Given the description of an element on the screen output the (x, y) to click on. 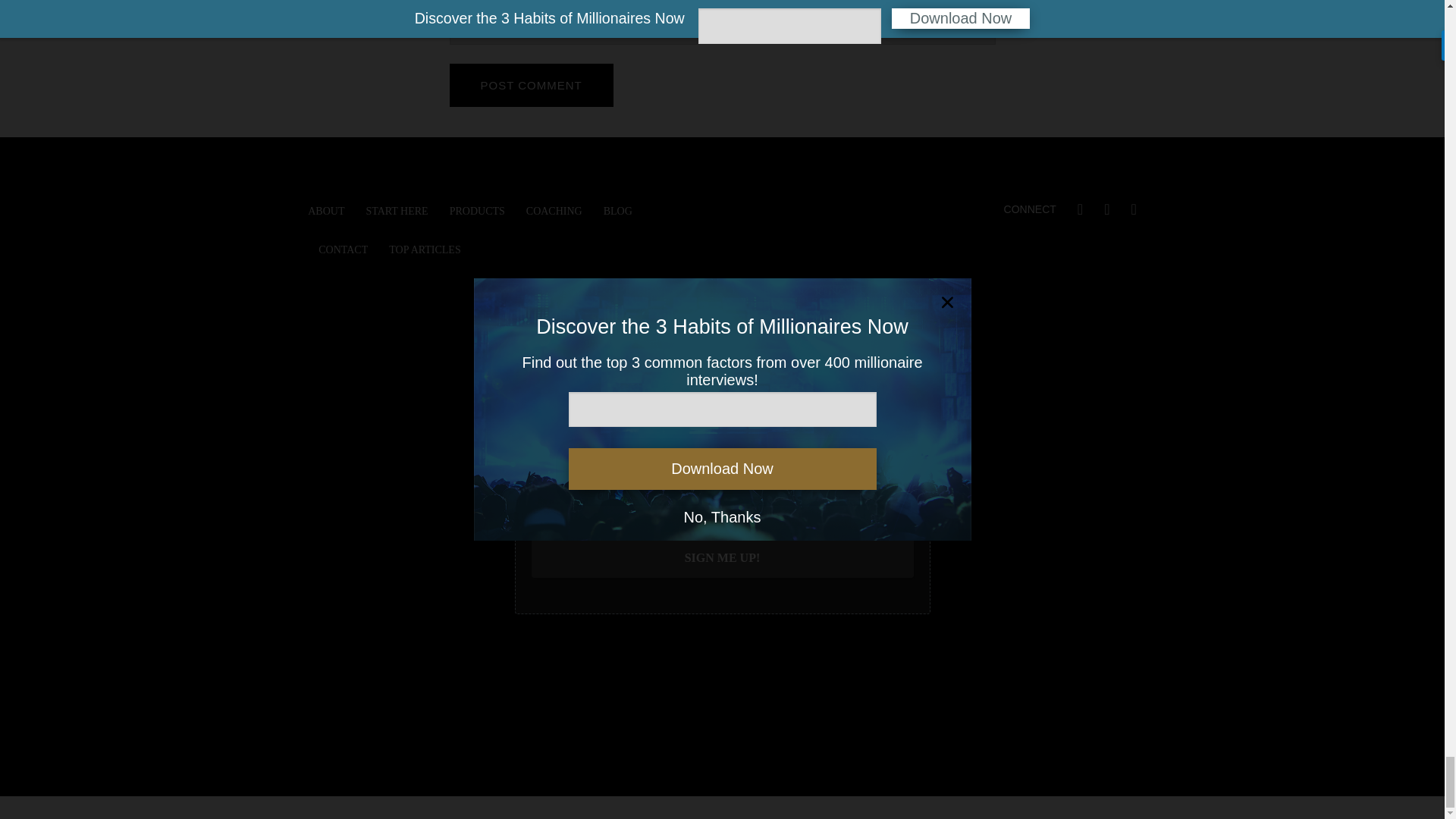
Post Comment (530, 85)
